Given the description of an element on the screen output the (x, y) to click on. 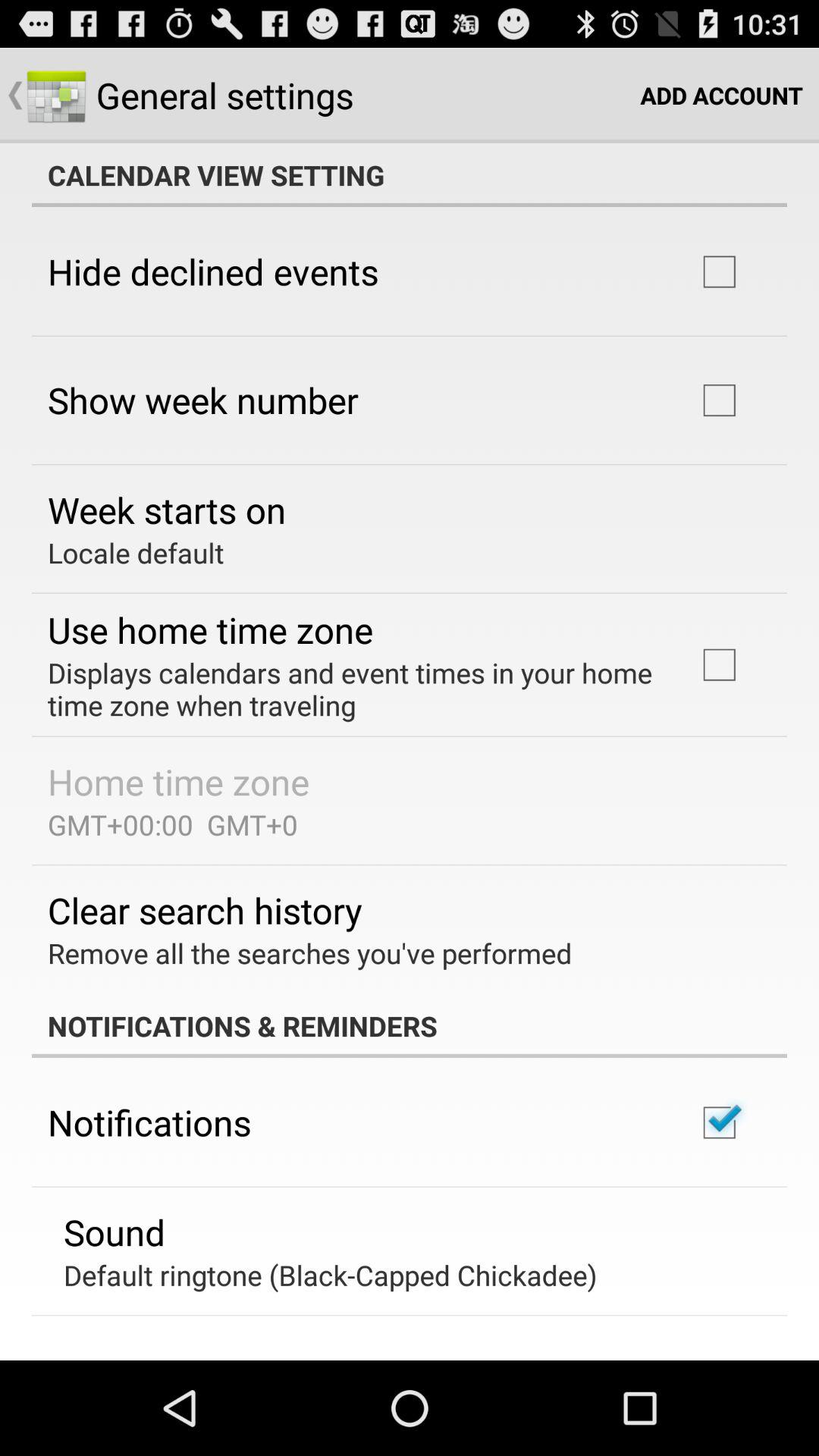
turn on gmt 00 00 item (172, 824)
